Given the description of an element on the screen output the (x, y) to click on. 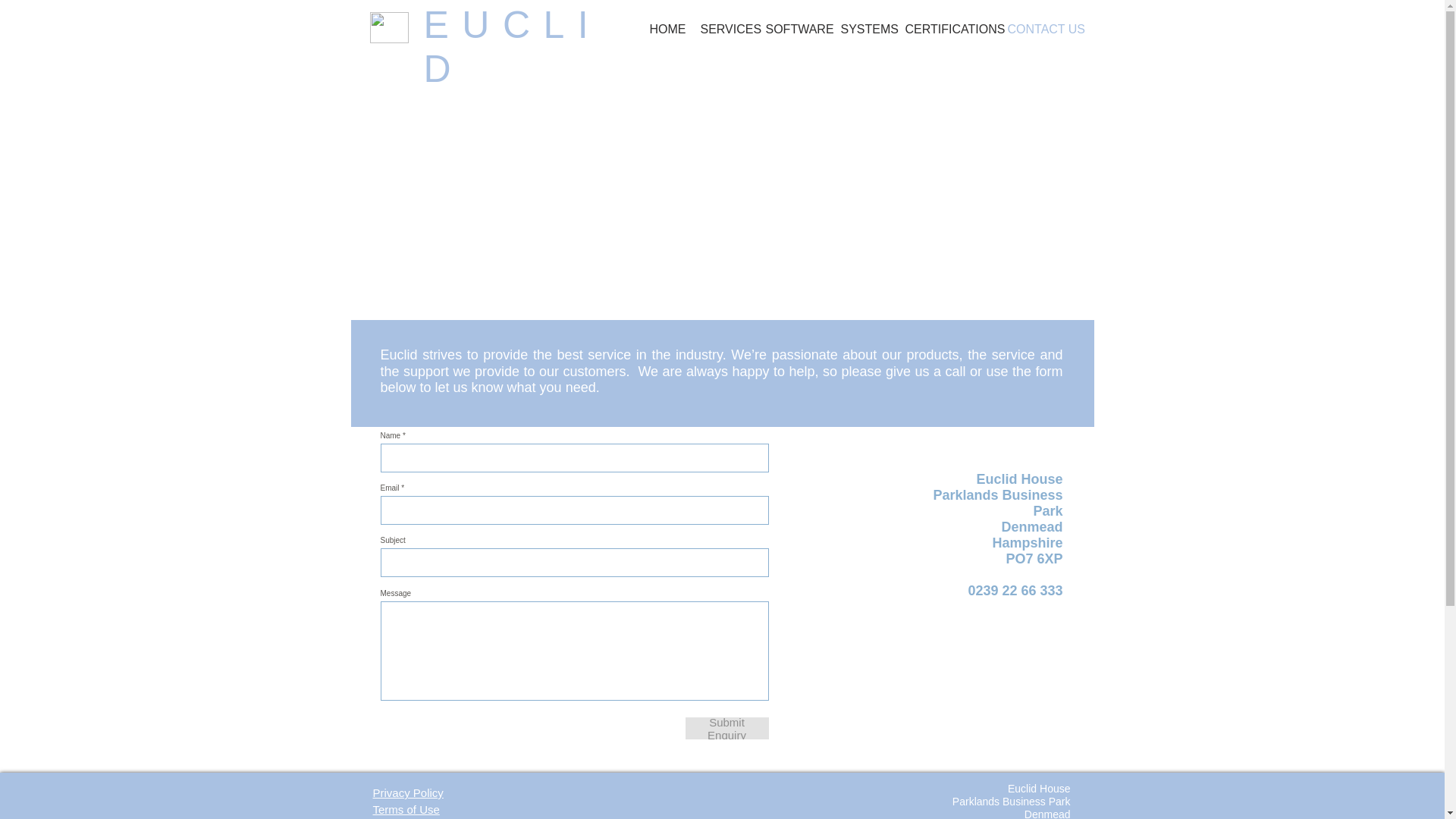
Terms of Use (405, 809)
SOFTWARE (795, 29)
SYSTEMS (864, 29)
HOME (667, 29)
Privacy Policy (408, 792)
SERVICES (725, 29)
CONTACT US (1043, 29)
CERTIFICATIONS (949, 29)
Submit Enquiry (726, 728)
